Given the description of an element on the screen output the (x, y) to click on. 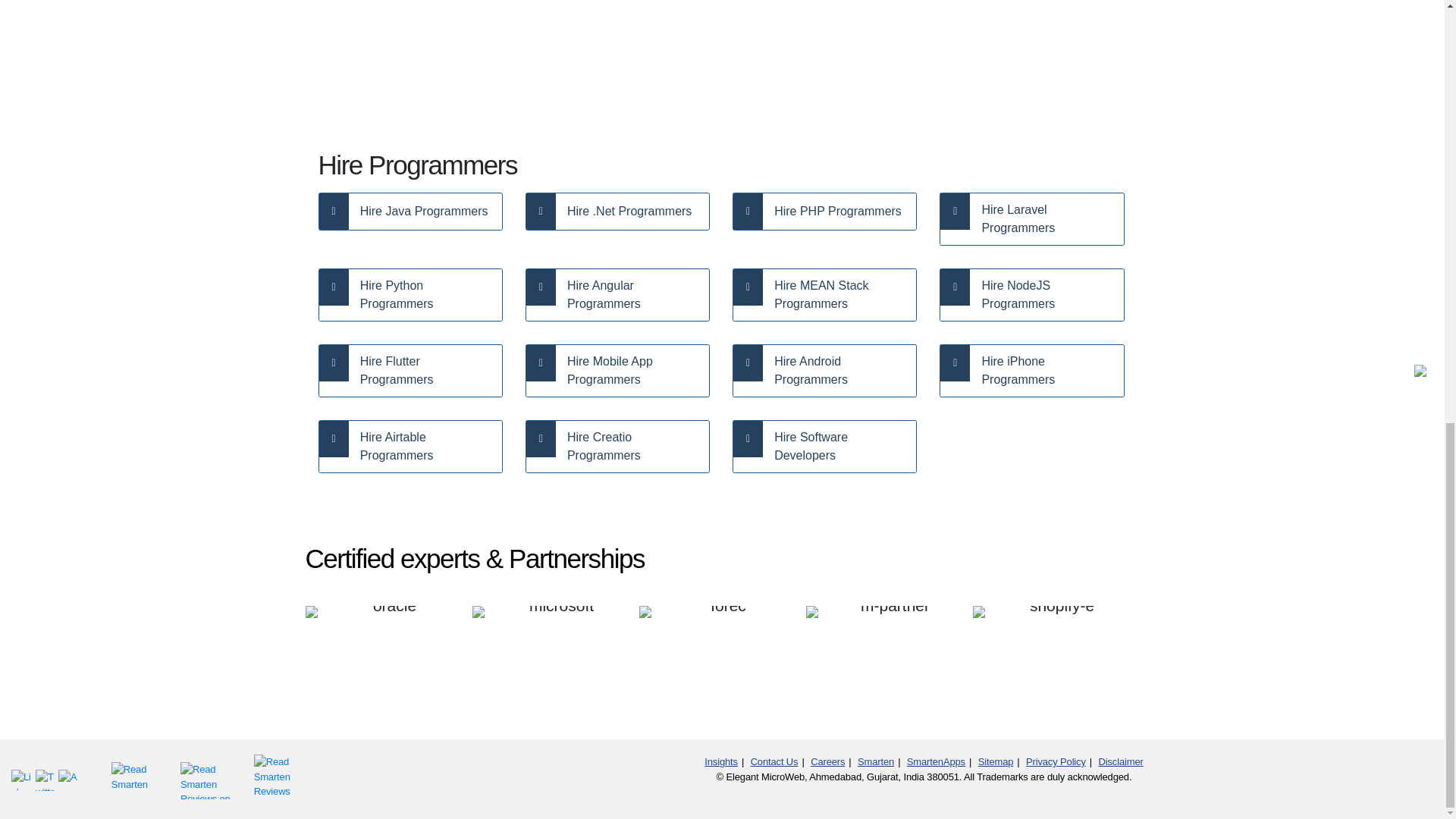
Augmented Analytics and Advanced Analytics Smarten Blog (68, 779)
LinkedIn (22, 779)
Read Smarten Reviews on GetApp (275, 778)
Twitter (46, 780)
Read Smarten Reviews on GetApp (207, 776)
